Given the description of an element on the screen output the (x, y) to click on. 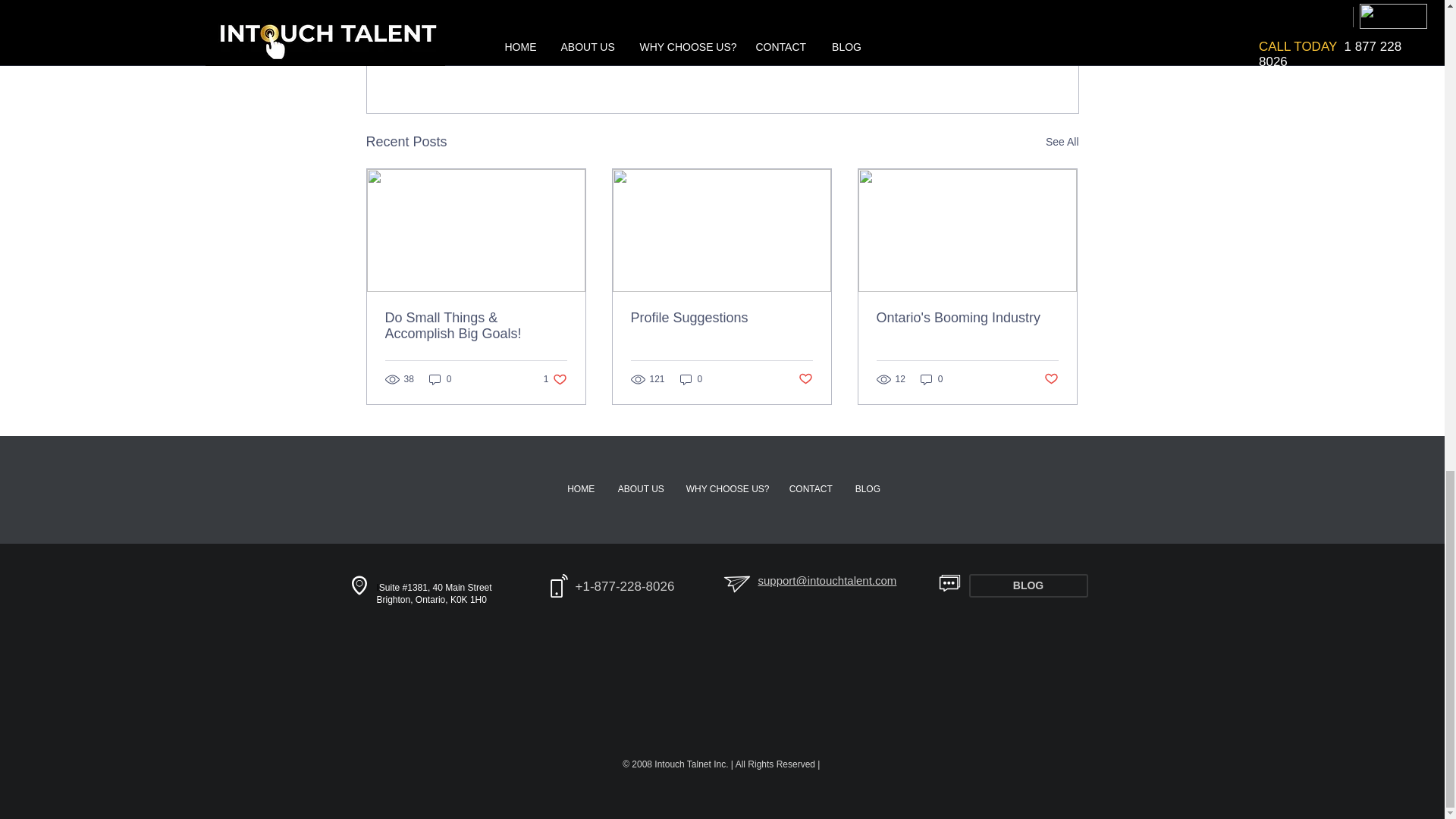
0 (990, 59)
See All (931, 379)
Post not marked as liked (1061, 142)
WHY CHOOSE US? (1050, 379)
BLOG (726, 488)
Profile Suggestions (1028, 585)
HOME (721, 317)
CONTACT (581, 488)
